Given the description of an element on the screen output the (x, y) to click on. 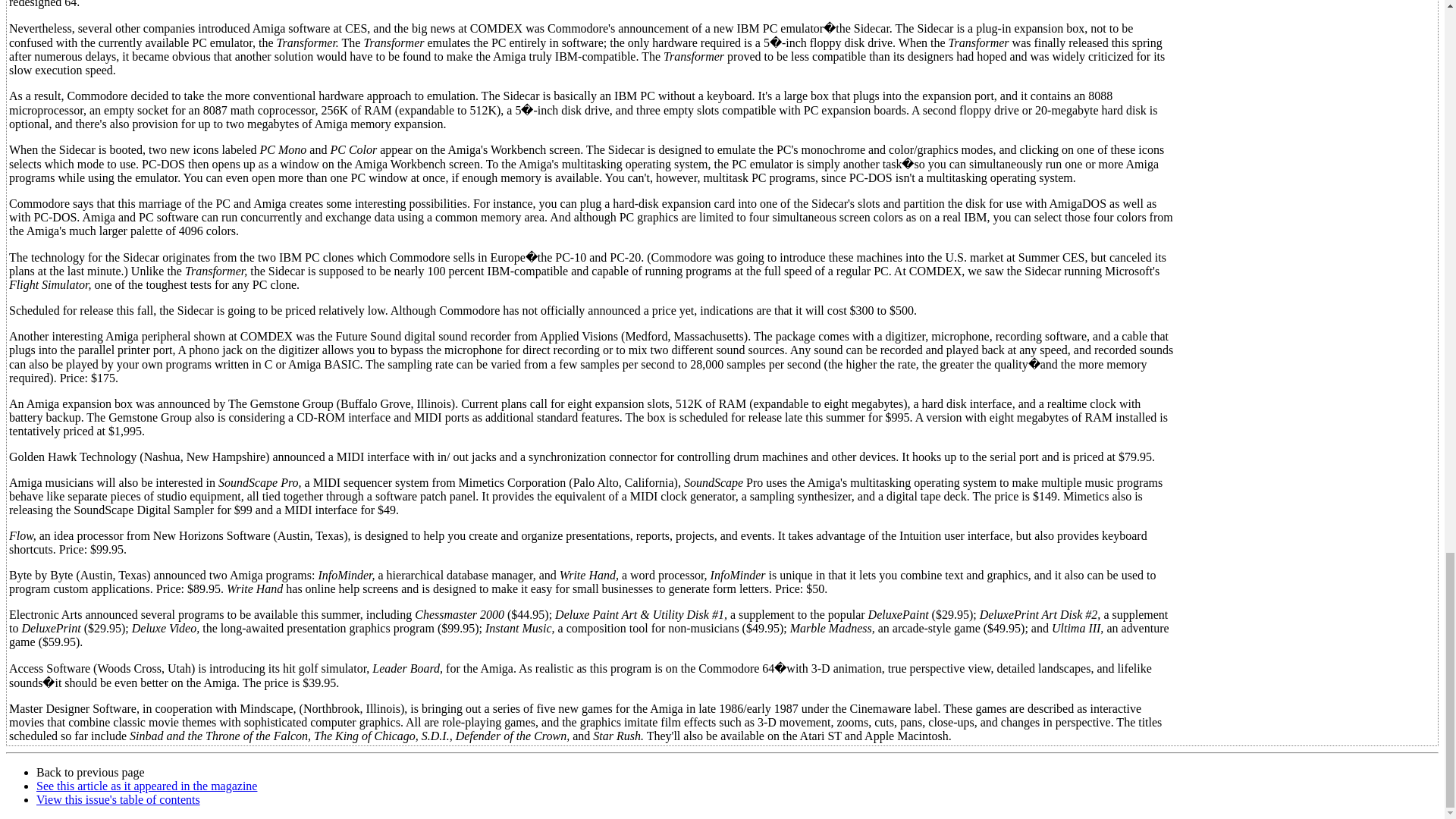
See this article as it appeared in the magazine (146, 785)
Back to previous page (90, 771)
View this issue's table of contents (118, 799)
